Given the description of an element on the screen output the (x, y) to click on. 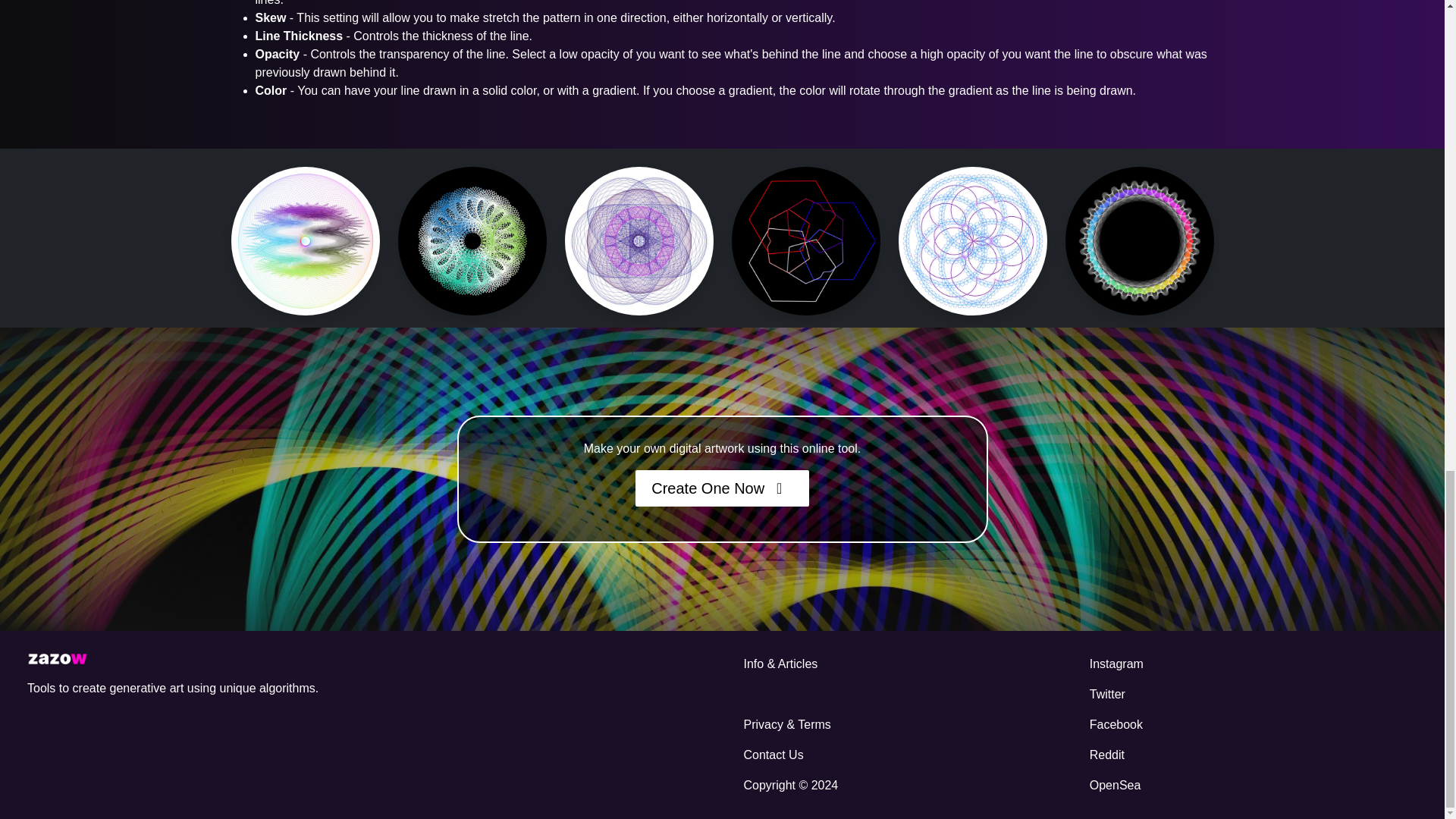
Create One Now (721, 488)
Reddit (1249, 755)
OpenSea (1249, 785)
Contact Us (897, 755)
Facebook (1249, 725)
Instagram (1249, 664)
Twitter (1249, 694)
